Given the description of an element on the screen output the (x, y) to click on. 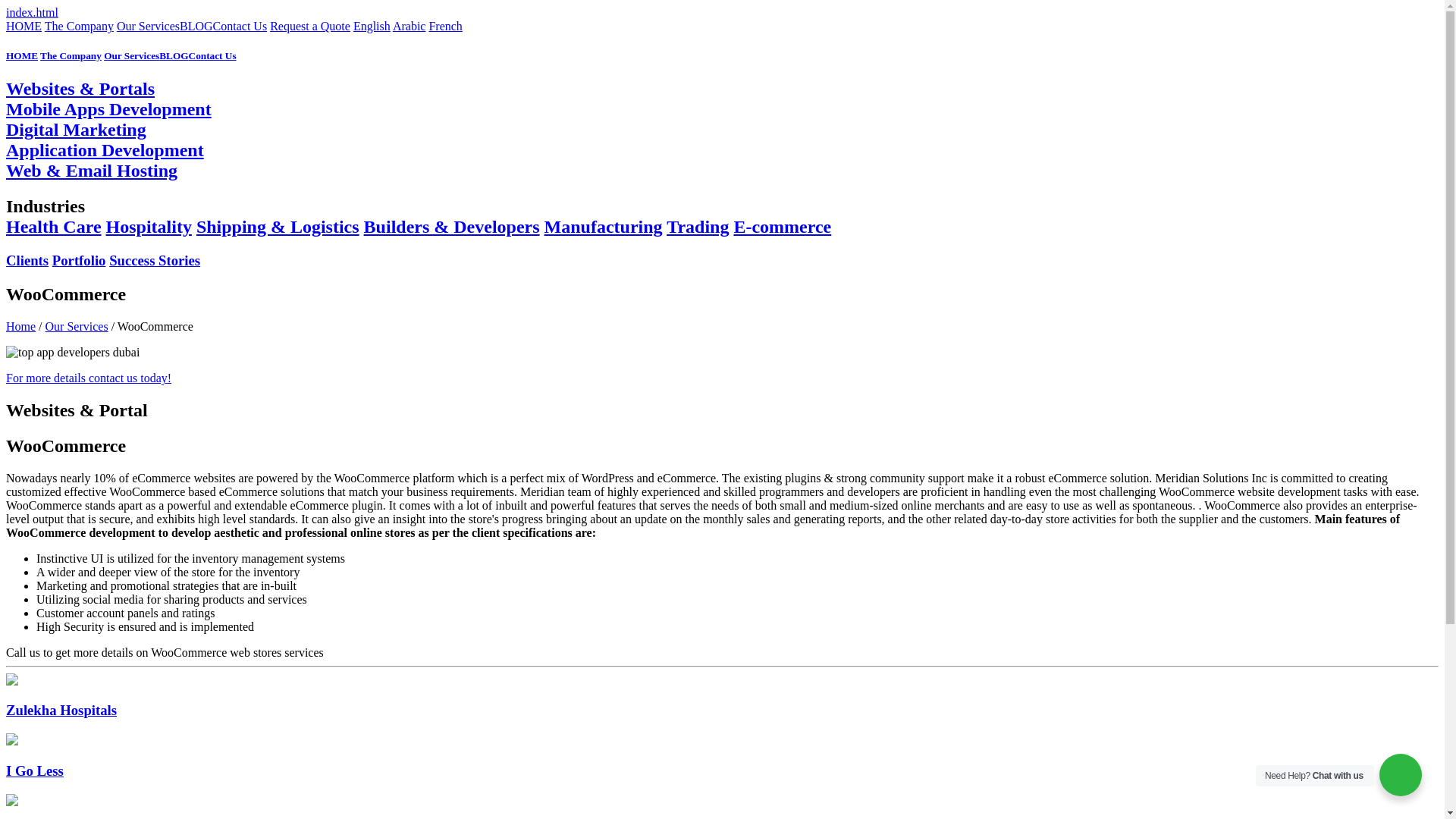
Trading (697, 226)
Contact Us (212, 55)
Request a Quote (309, 25)
Hospitality (149, 226)
BLOG (172, 55)
HOME (23, 25)
Mobile Apps Development (108, 108)
Clients (26, 260)
Our Services (130, 55)
index.html (31, 11)
English (371, 25)
Health Care (53, 226)
Digital Marketing (76, 129)
E-commerce (782, 226)
HOME (21, 55)
